Given the description of an element on the screen output the (x, y) to click on. 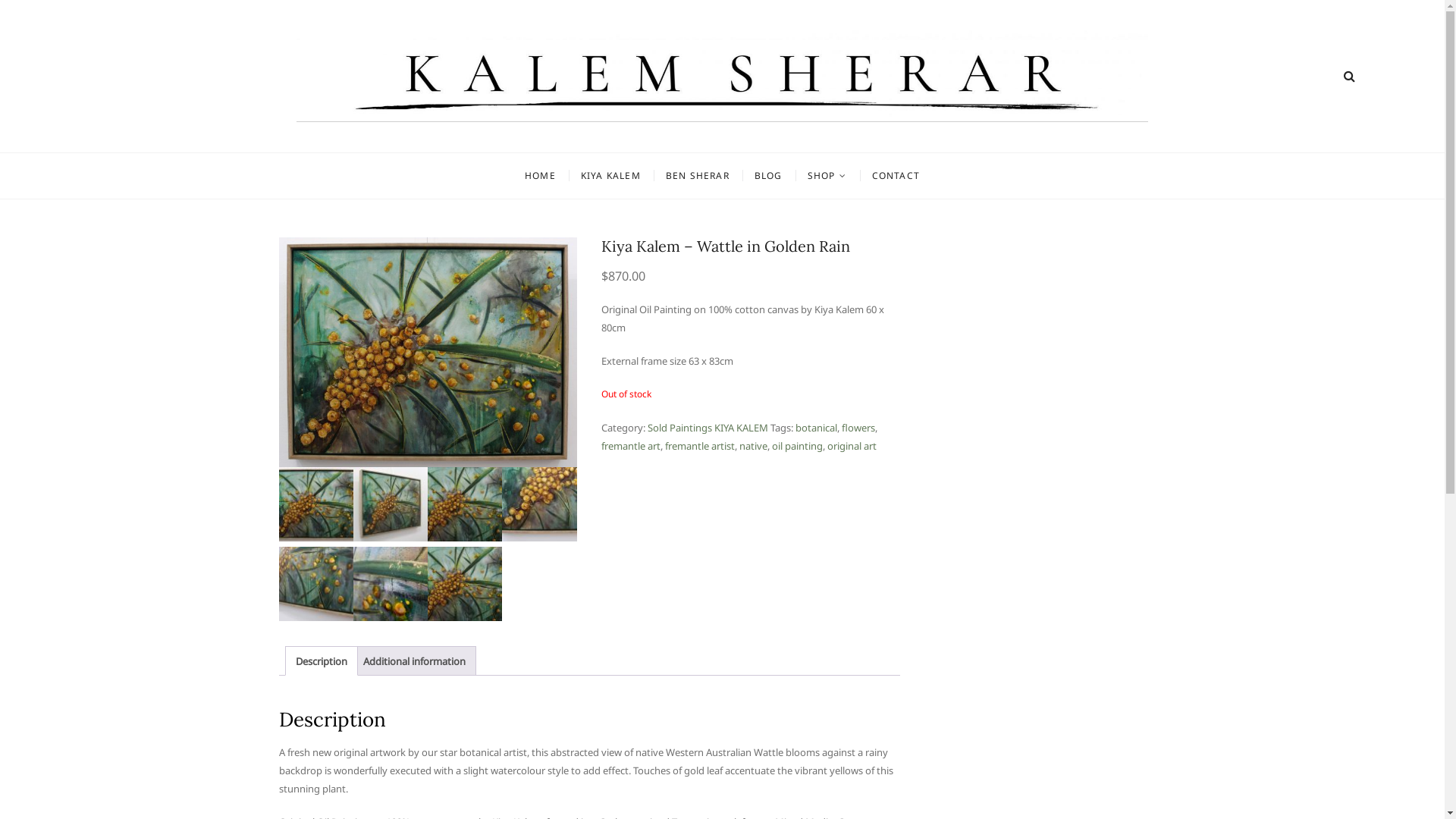
fremantle art Element type: text (630, 445)
BLOG Element type: text (768, 175)
HOME Element type: text (540, 175)
Wattle in Golden Rain original oil painting by Kiya Kalem Element type: hover (464, 504)
Additional information Element type: text (413, 660)
KIYA KALEM Element type: text (610, 175)
Wattle in Golden Rain painting by Kiya Kalem cropped Element type: hover (316, 583)
flowers Element type: text (858, 427)
SHOP Element type: text (827, 175)
fremantle artist Element type: text (699, 445)
native Element type: text (753, 445)
Description Element type: text (321, 660)
CONTACT Element type: text (895, 175)
Wattle in Golden Rain original oil painting by Kiya Kalem Element type: hover (464, 583)
Wattle in Golden Rain painting cropped Element type: hover (390, 583)
Sold Paintings KIYA KALEM Element type: text (707, 427)
original art Element type: text (851, 445)
Wattle in Golden Rain original framed painting by Kiya Kalem Element type: hover (390, 504)
oil painting Element type: text (796, 445)
BEN SHERAR Element type: text (697, 175)
botanical Element type: text (816, 427)
Wattle in Golden Rain original painting cropped Element type: hover (539, 504)
Kalem Sherar Element type: text (386, 138)
